Given the description of an element on the screen output the (x, y) to click on. 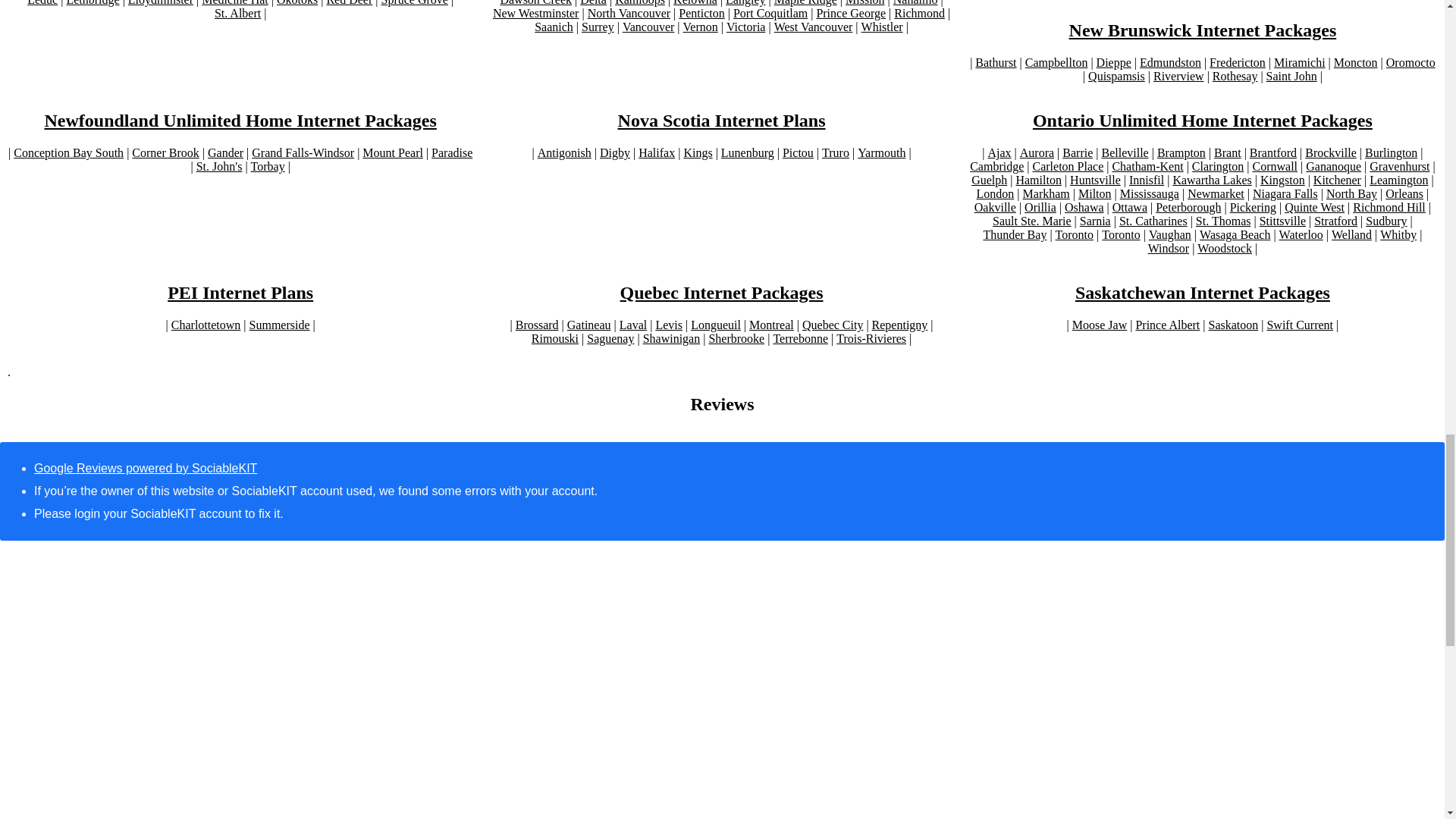
Okotoks (296, 3)
St. Albert (237, 13)
Lethbridge (92, 3)
Leduc (42, 3)
Lloydminster (160, 3)
Red Deer (349, 3)
Spruce Grove (413, 3)
Medicine Hat (234, 3)
